Given the description of an element on the screen output the (x, y) to click on. 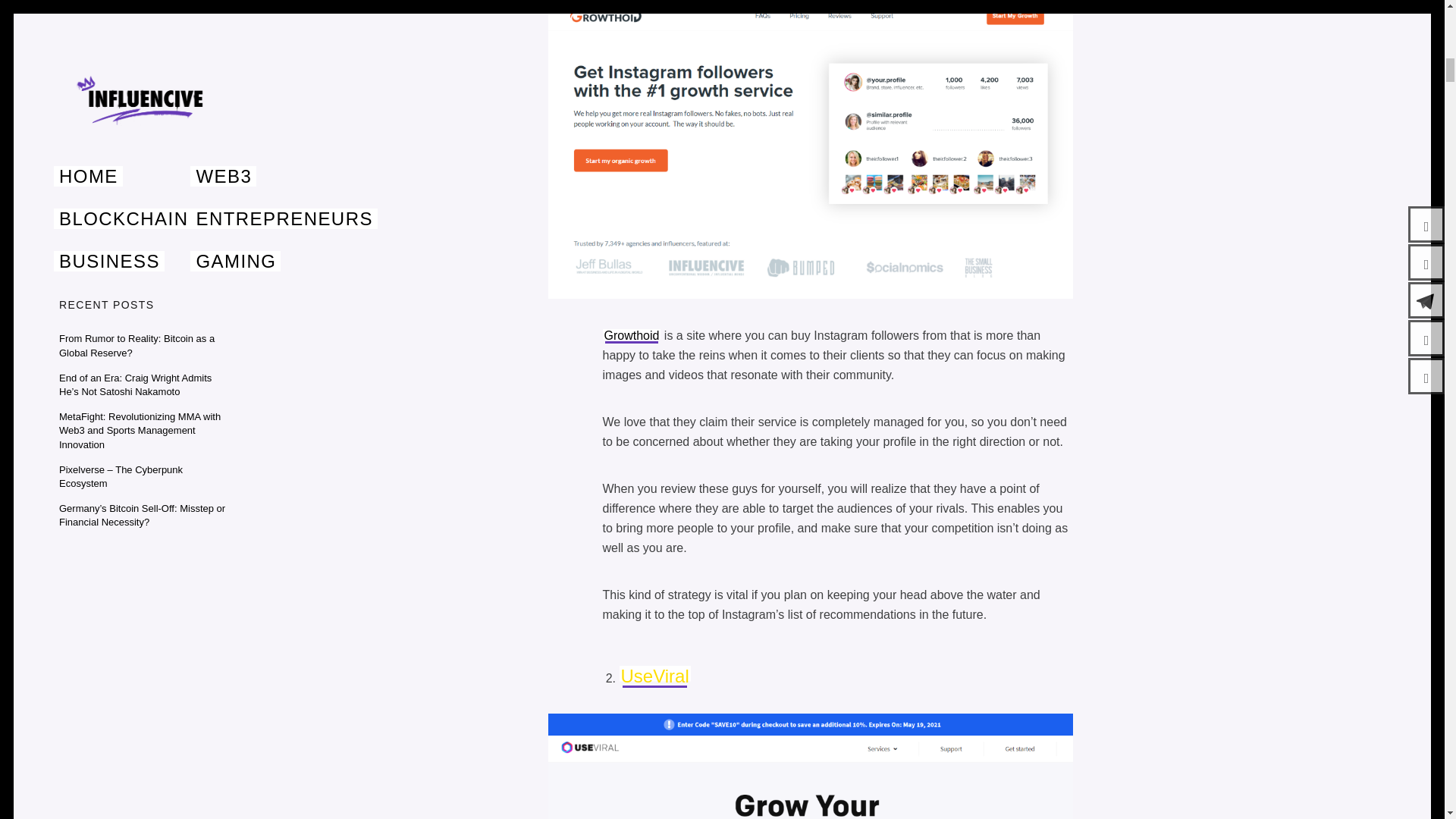
UseViral (654, 675)
Growthoid (631, 335)
